Given the description of an element on the screen output the (x, y) to click on. 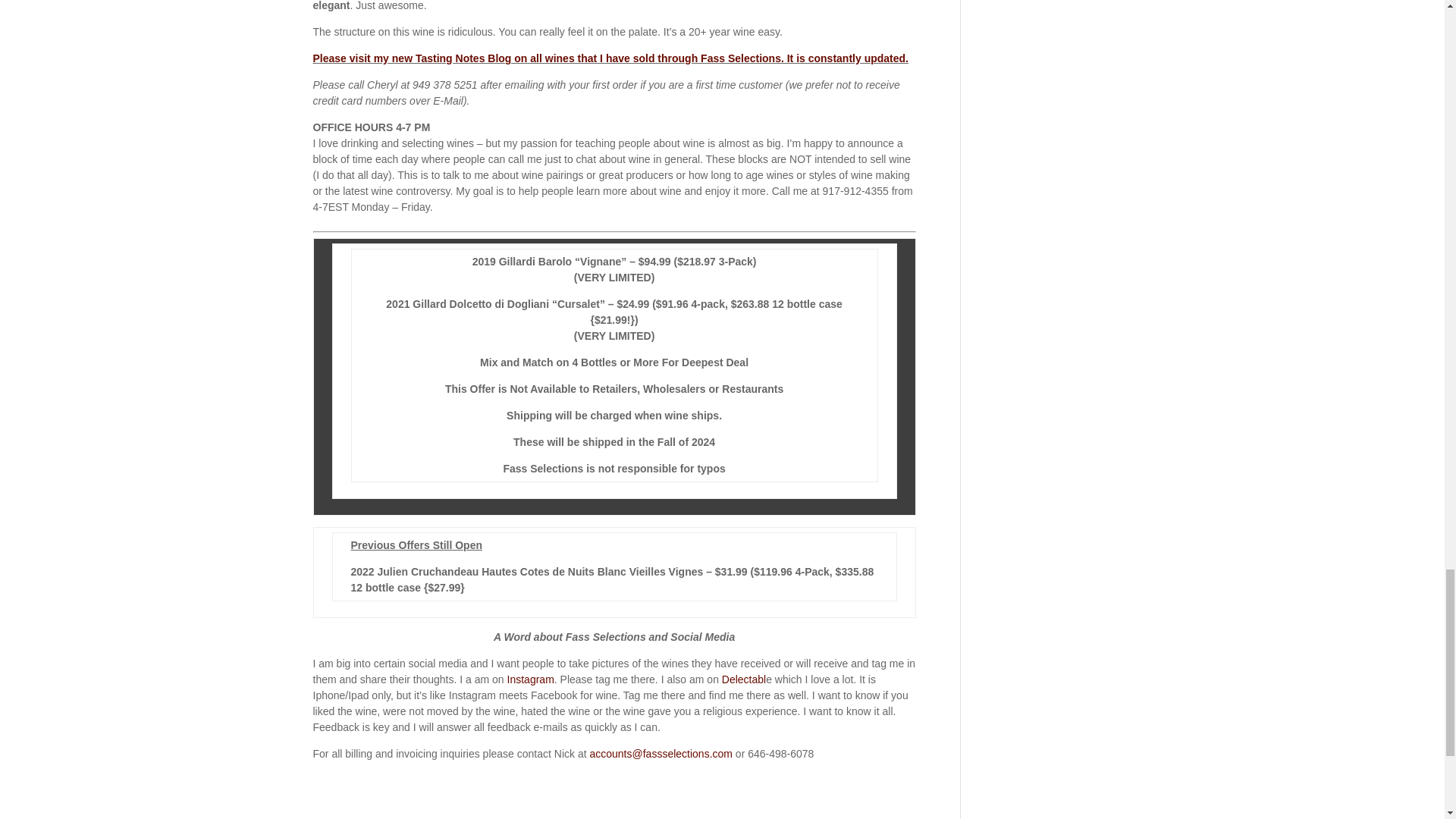
Delectabl (743, 679)
Instagram (530, 679)
